Given the description of an element on the screen output the (x, y) to click on. 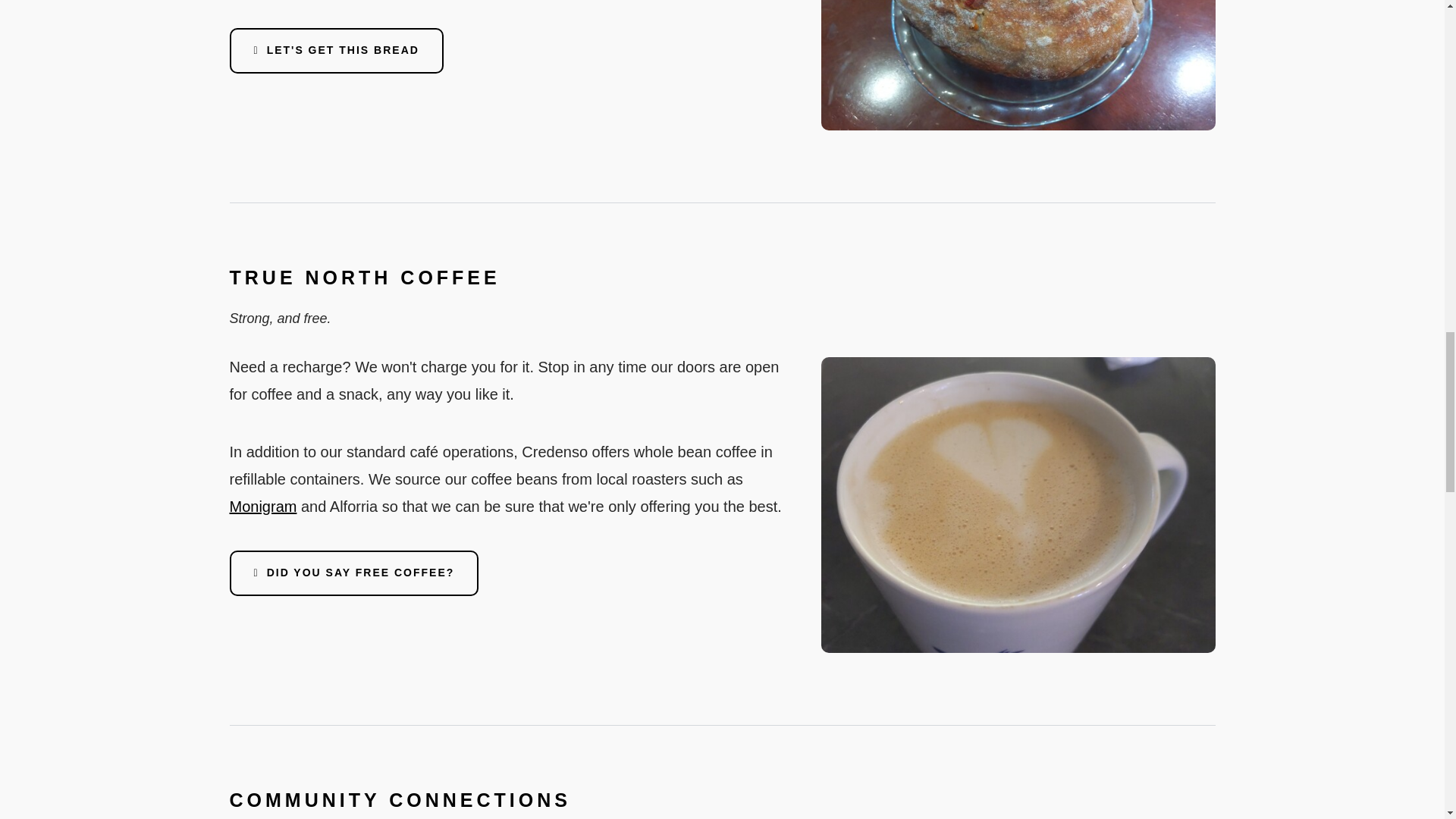
Monigram (262, 506)
DID YOU SAY FREE COFFEE? (353, 573)
LET'S GET THIS BREAD (335, 50)
